Given the description of an element on the screen output the (x, y) to click on. 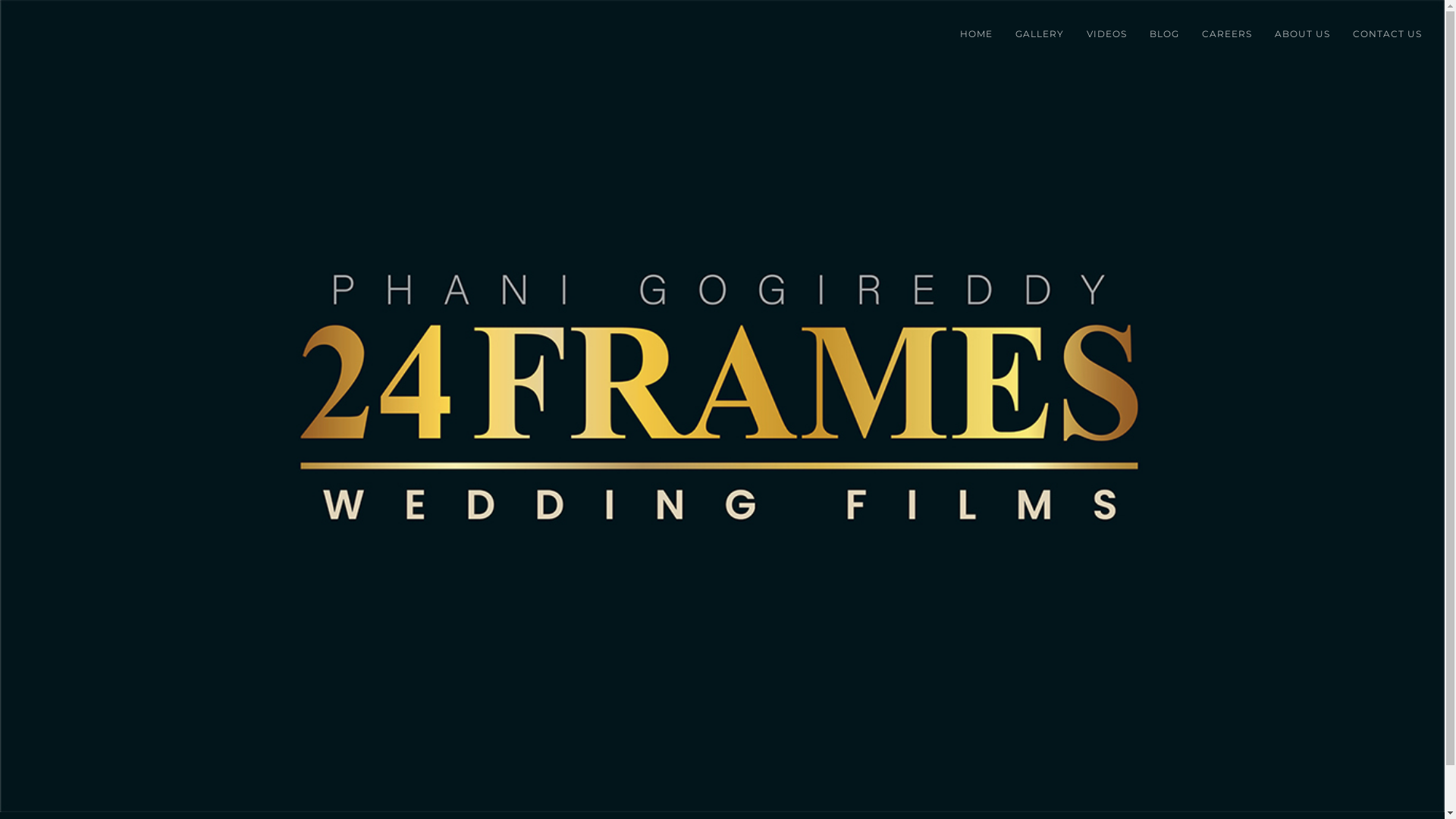
CAREERS Element type: text (1226, 34)
CONTACT US Element type: text (1387, 34)
GALLERY Element type: text (1039, 34)
HOME Element type: text (976, 34)
BLOG Element type: text (1164, 34)
ABOUT US Element type: text (1302, 34)
VIDEOS Element type: text (1106, 34)
